Given the description of an element on the screen output the (x, y) to click on. 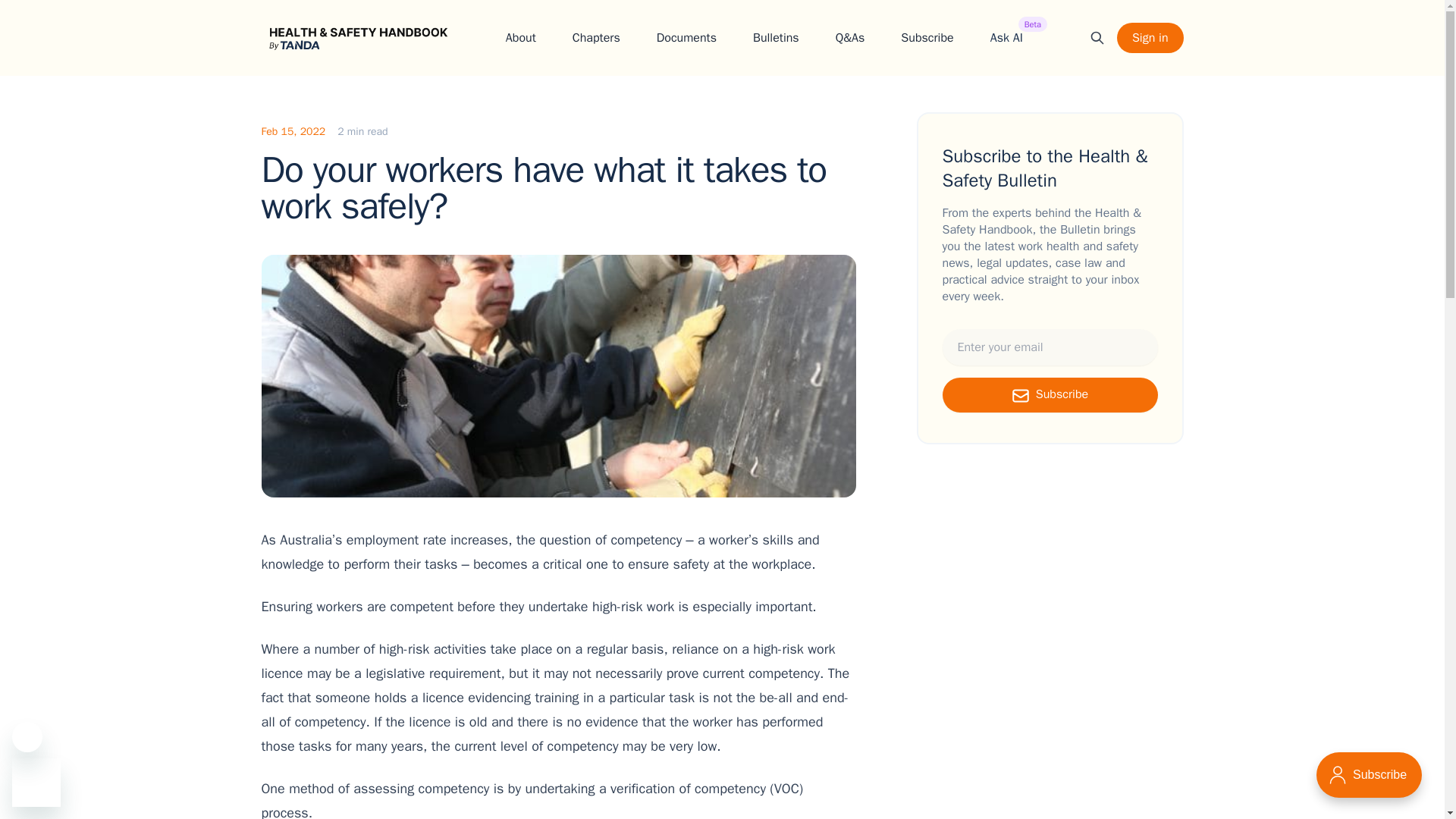
Bulletins (775, 37)
About (1006, 37)
Subscribe (520, 37)
Chapters (927, 37)
Close message (596, 37)
Subscribe (26, 736)
Button to launch messaging window (1049, 394)
Sign in (36, 782)
Documents (1149, 37)
